Given the description of an element on the screen output the (x, y) to click on. 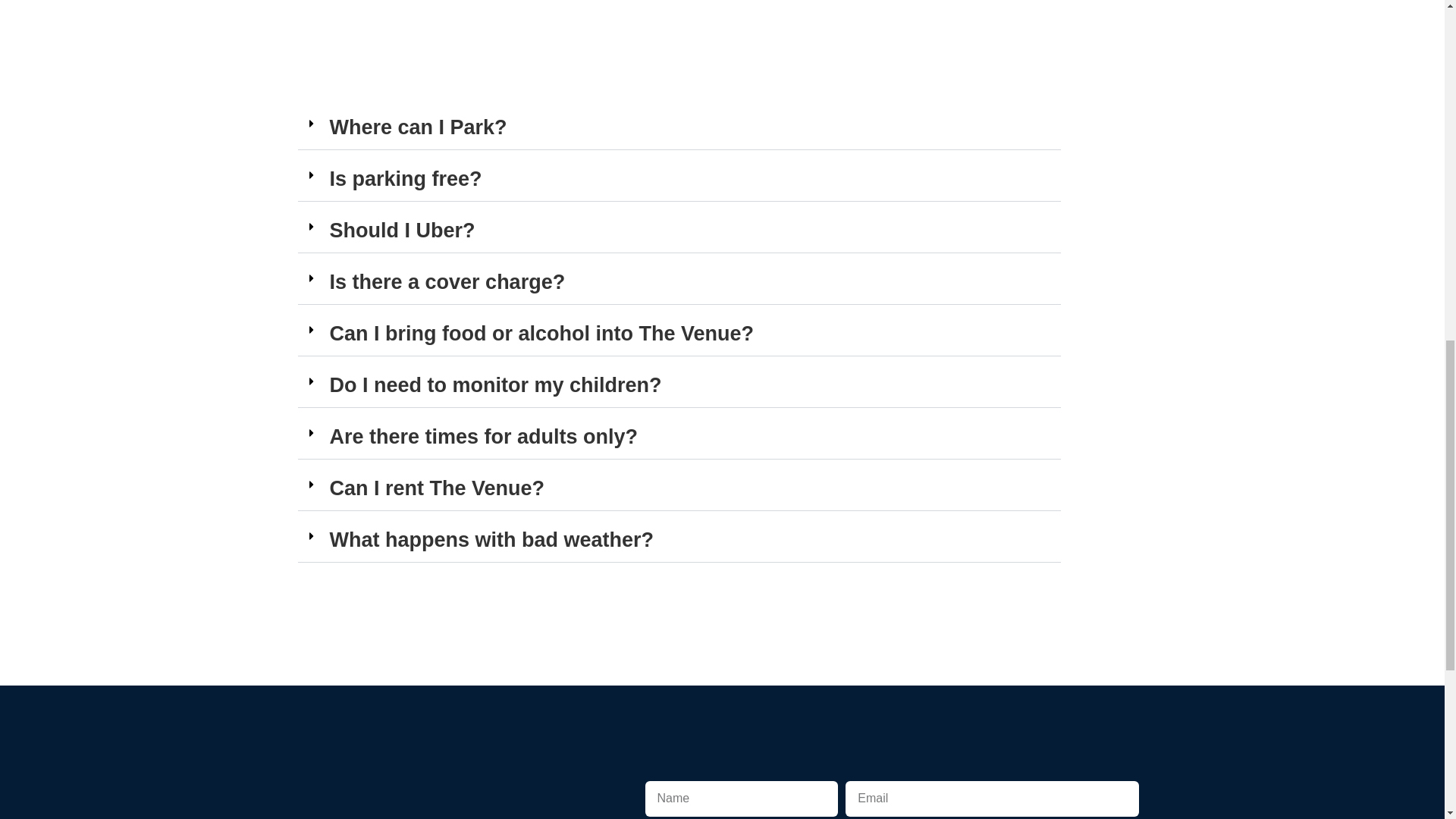
Do I need to monitor my children? (495, 384)
Should I Uber? (401, 230)
Can I bring food or alcohol into The Venue? (541, 333)
Is there a cover charge? (446, 282)
Can I rent The Venue? (436, 487)
Is parking free? (405, 178)
Where can I Park? (417, 127)
What happens with bad weather? (491, 539)
Are there times for adults only? (483, 436)
